Given the description of an element on the screen output the (x, y) to click on. 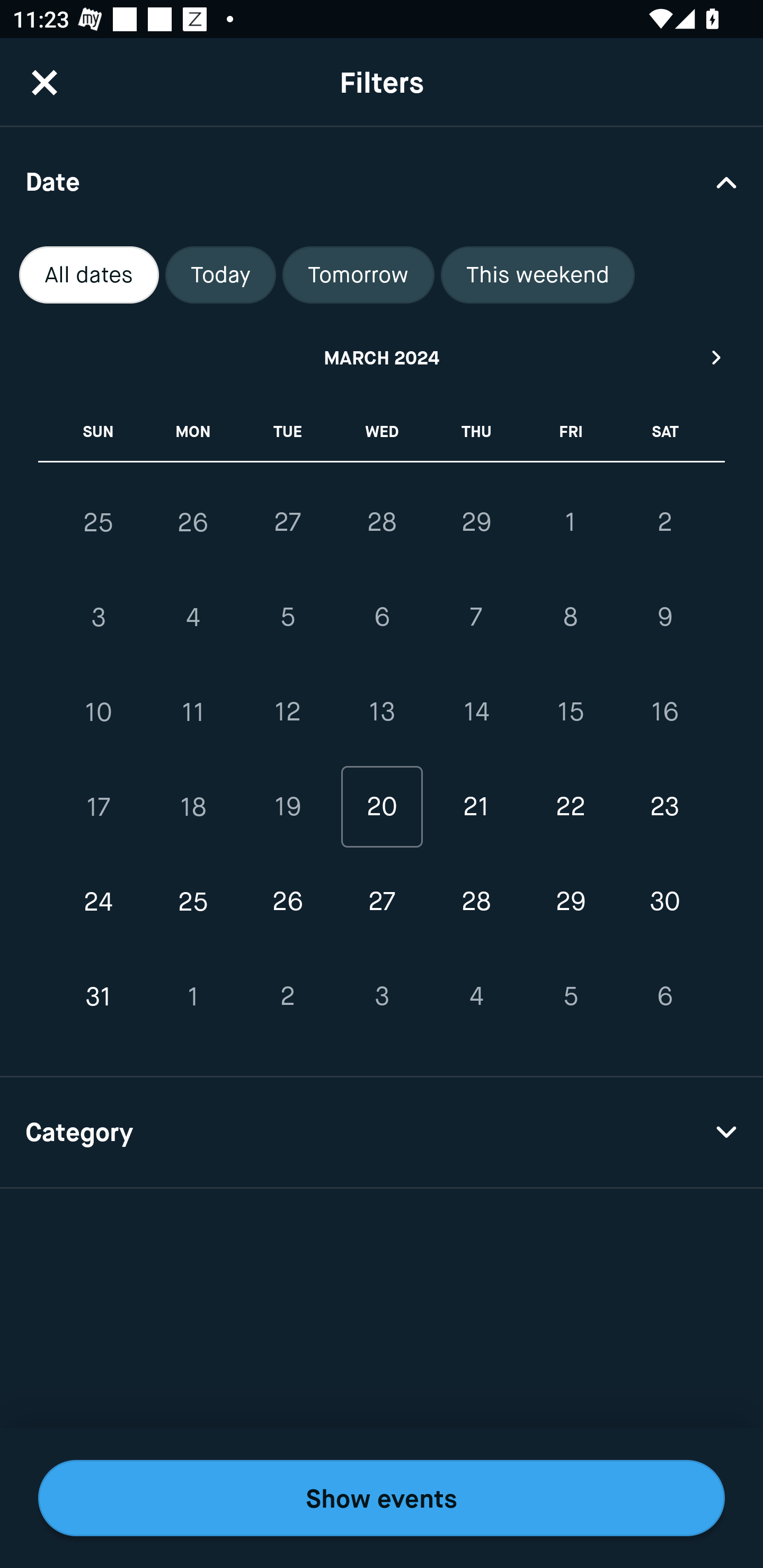
CloseButton (44, 82)
Date Drop Down Arrow (381, 181)
All dates (88, 274)
Today (220, 274)
Tomorrow (358, 274)
This weekend (537, 274)
Next (717, 357)
25 (98, 522)
26 (192, 522)
27 (287, 522)
28 (381, 522)
29 (475, 522)
1 (570, 522)
2 (664, 522)
3 (98, 617)
4 (192, 617)
5 (287, 617)
6 (381, 617)
7 (475, 617)
8 (570, 617)
9 (664, 617)
10 (98, 711)
11 (192, 711)
12 (287, 711)
13 (381, 711)
14 (475, 711)
15 (570, 711)
16 (664, 711)
17 (98, 806)
18 (192, 806)
19 (287, 806)
20 (381, 806)
21 (475, 806)
22 (570, 806)
23 (664, 806)
24 (98, 901)
25 (192, 901)
26 (287, 901)
27 (381, 901)
28 (475, 901)
29 (570, 901)
30 (664, 901)
31 (98, 996)
1 (192, 996)
2 (287, 996)
3 (381, 996)
4 (475, 996)
5 (570, 996)
6 (664, 996)
Category Drop Down Arrow (381, 1132)
Show events (381, 1497)
